Given the description of an element on the screen output the (x, y) to click on. 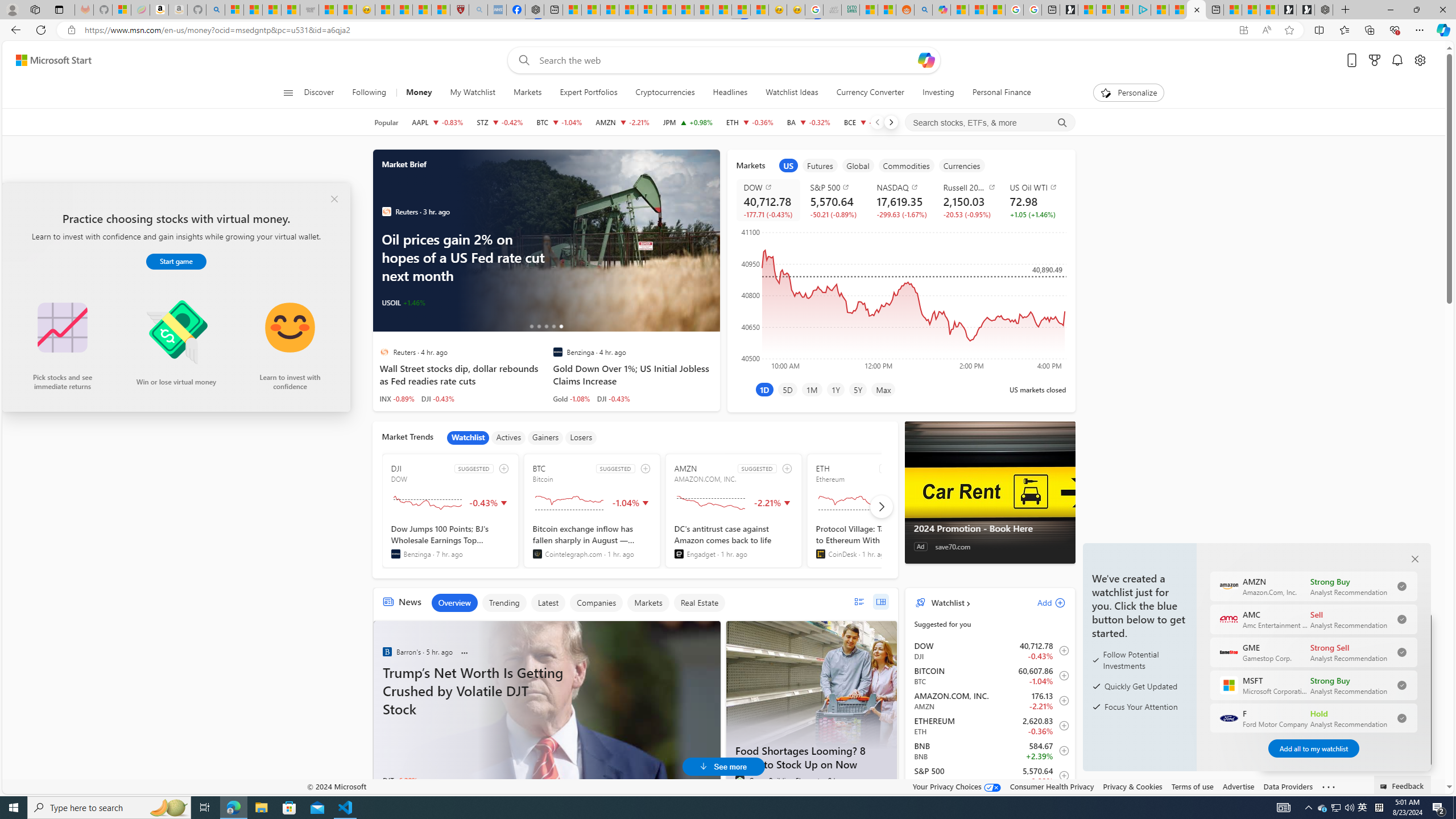
list of asthma inhalers uk - Search - Sleeping (478, 9)
Class: recharts-surface (900, 298)
item1 (787, 164)
NASDAQ COMP decrease 17,619.35 -299.63 -1.67% (901, 200)
BTC Bitcoin decrease 60,607.86 -629.74 -1.04% (559, 122)
Gold -1.08% (571, 397)
Watchlist Ideas (792, 92)
AMZN SUGGESTED AMAZON.COM, INC. (733, 510)
My Watchlist (472, 92)
DOW (770, 187)
Utah sues federal government - Search (923, 9)
